Given the description of an element on the screen output the (x, y) to click on. 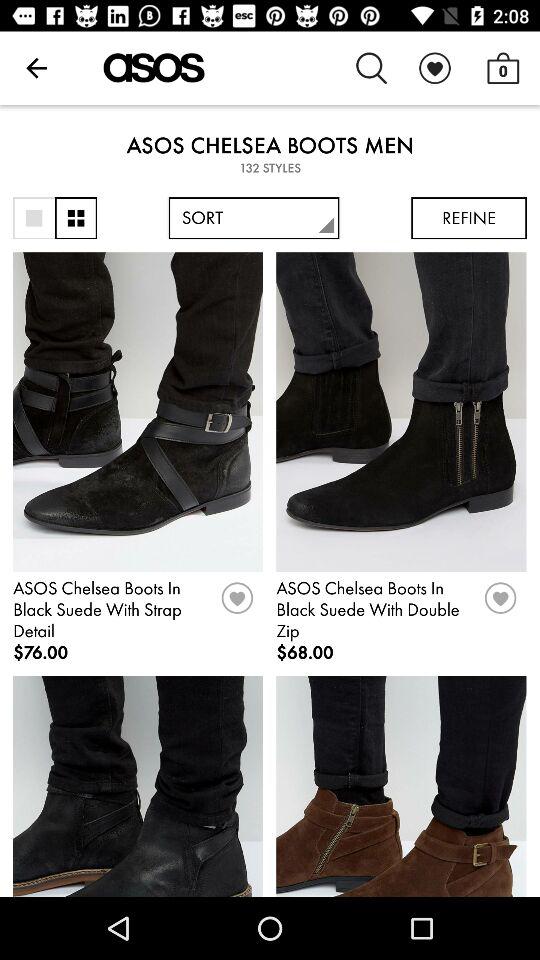
tap the icon above the asos chelsea boots item (503, 68)
